Given the description of an element on the screen output the (x, y) to click on. 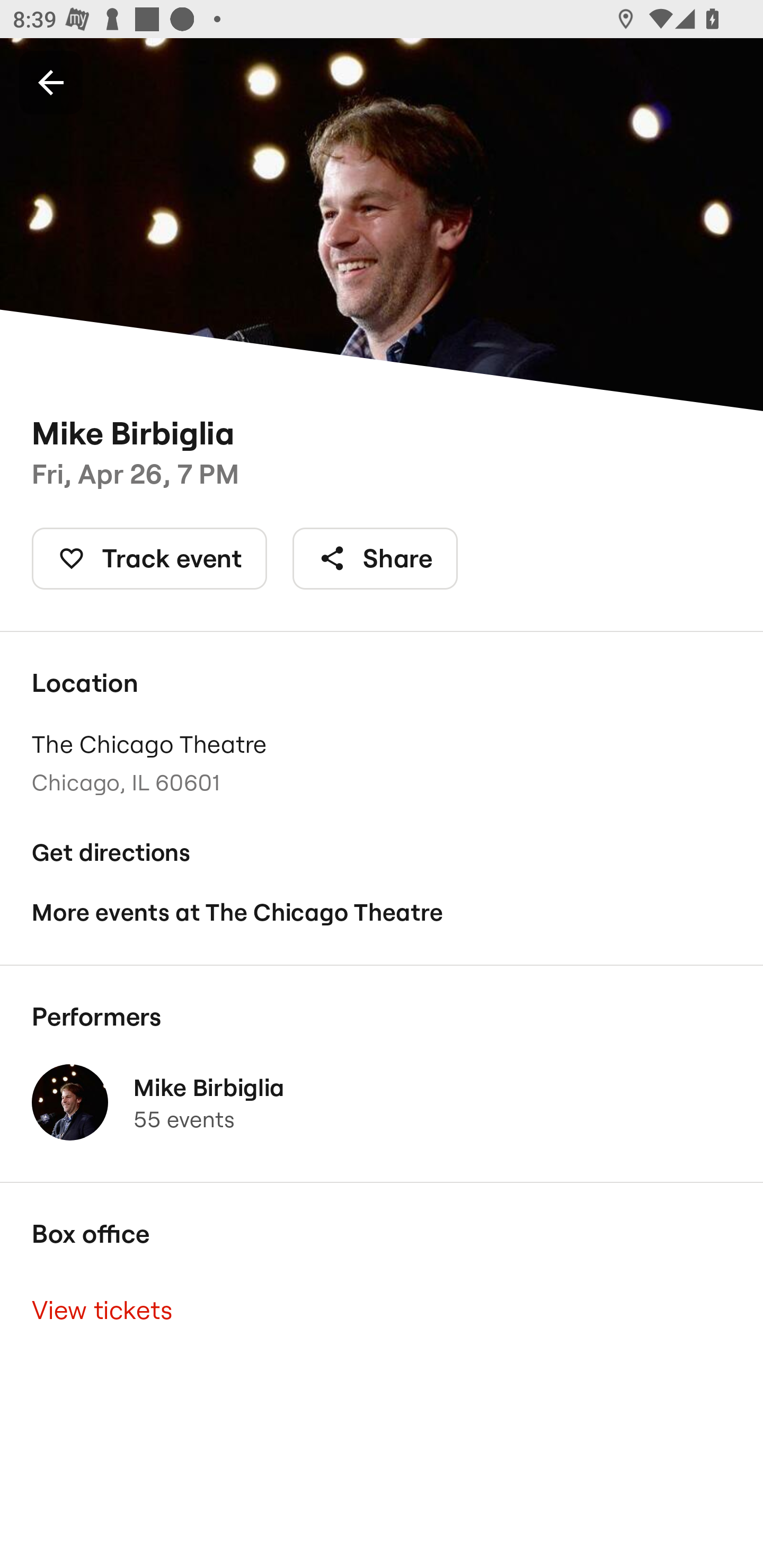
Back (50, 81)
Track event (149, 557)
Share (374, 557)
Get directions (381, 852)
More events at The Chicago Theatre (381, 912)
Mike Birbiglia 55 events (381, 1102)
View tickets (381, 1309)
